Given the description of an element on the screen output the (x, y) to click on. 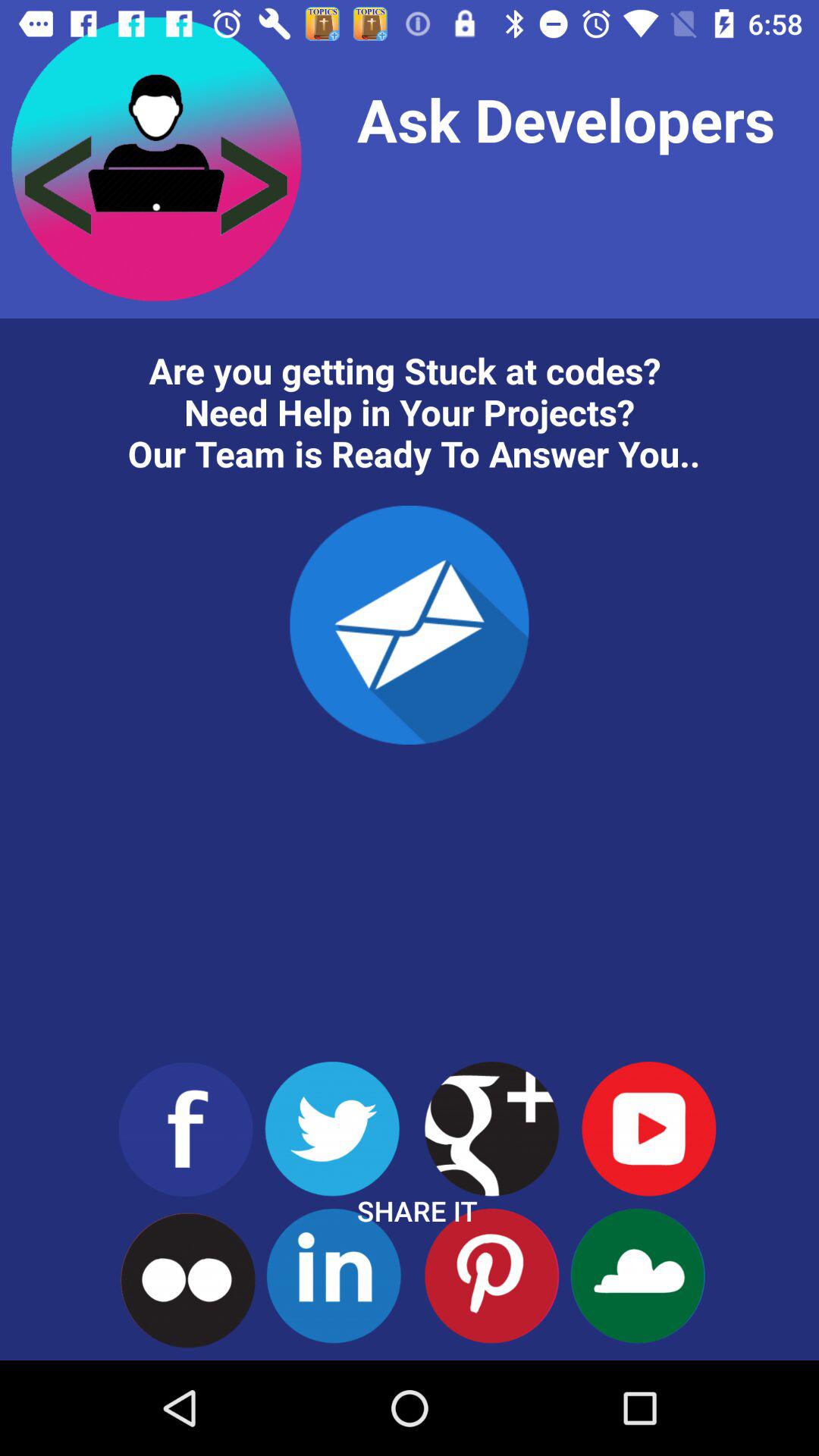
select the icon below the are you getting item (409, 624)
